Given the description of an element on the screen output the (x, y) to click on. 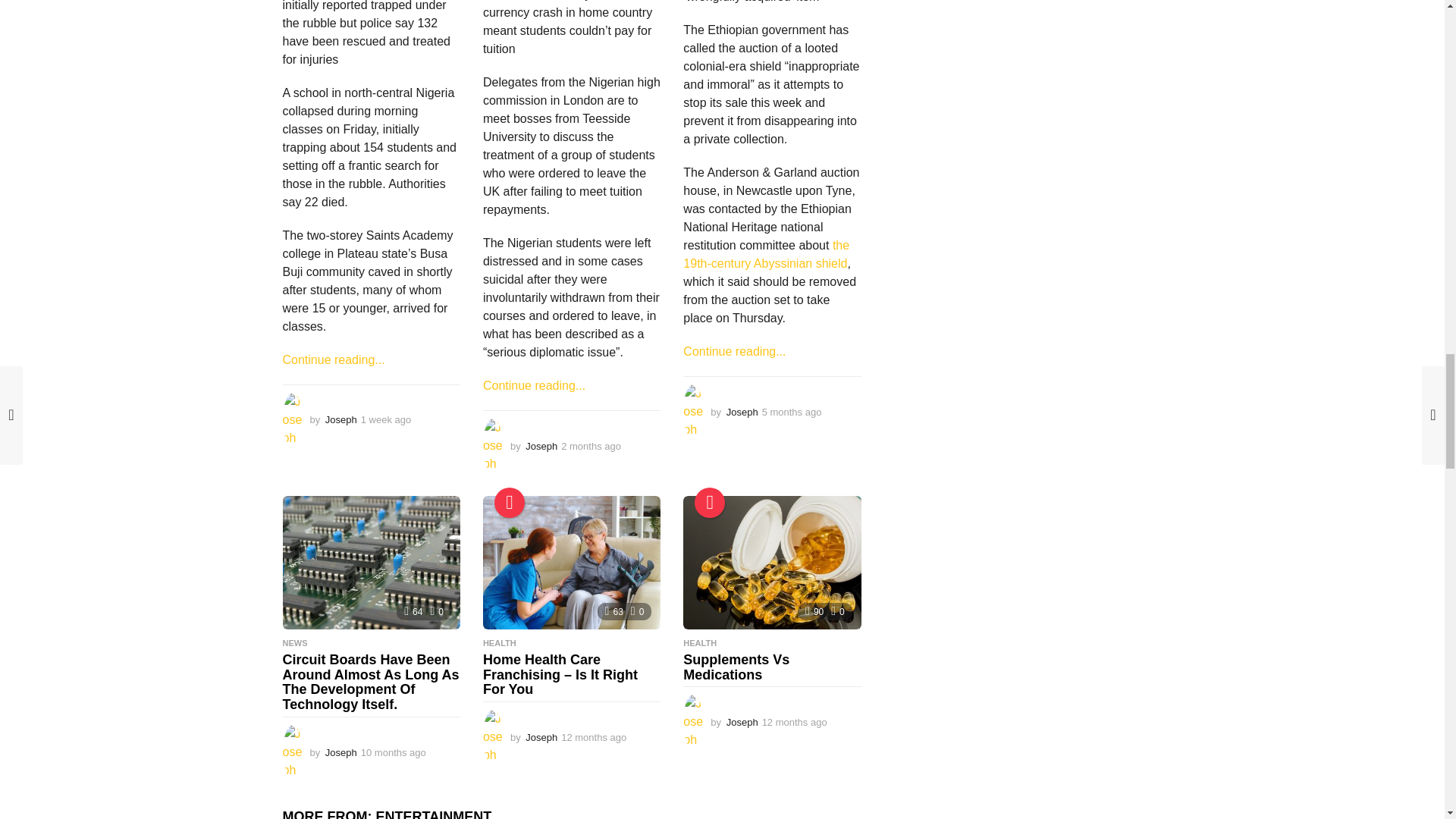
Popular (509, 502)
